Given the description of an element on the screen output the (x, y) to click on. 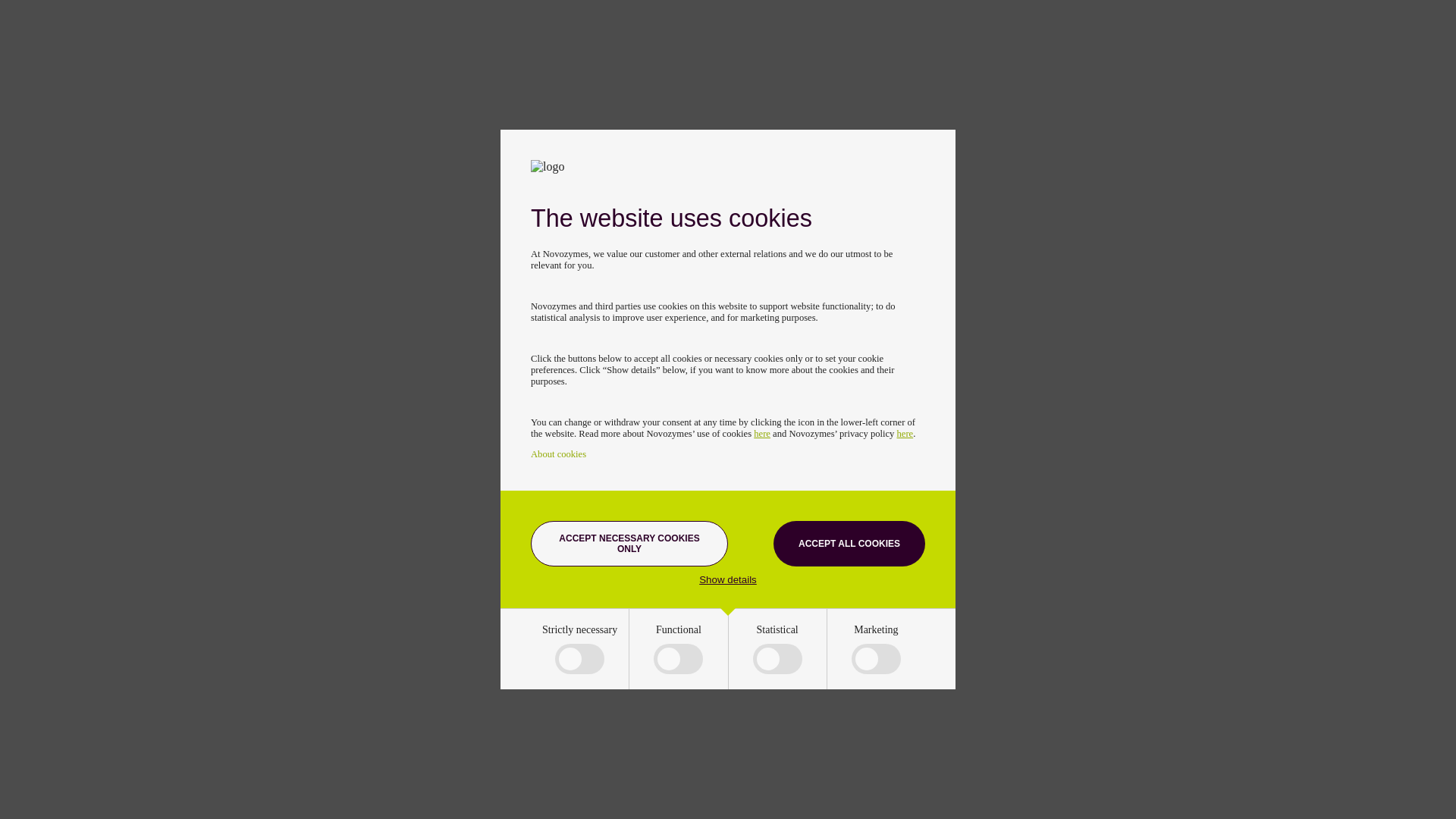
here (905, 433)
About cookies (558, 453)
here (762, 433)
ACCEPT ALL COOKIES (848, 543)
Show details (727, 579)
ACCEPT NECESSARY COOKIES ONLY (629, 543)
